Given the description of an element on the screen output the (x, y) to click on. 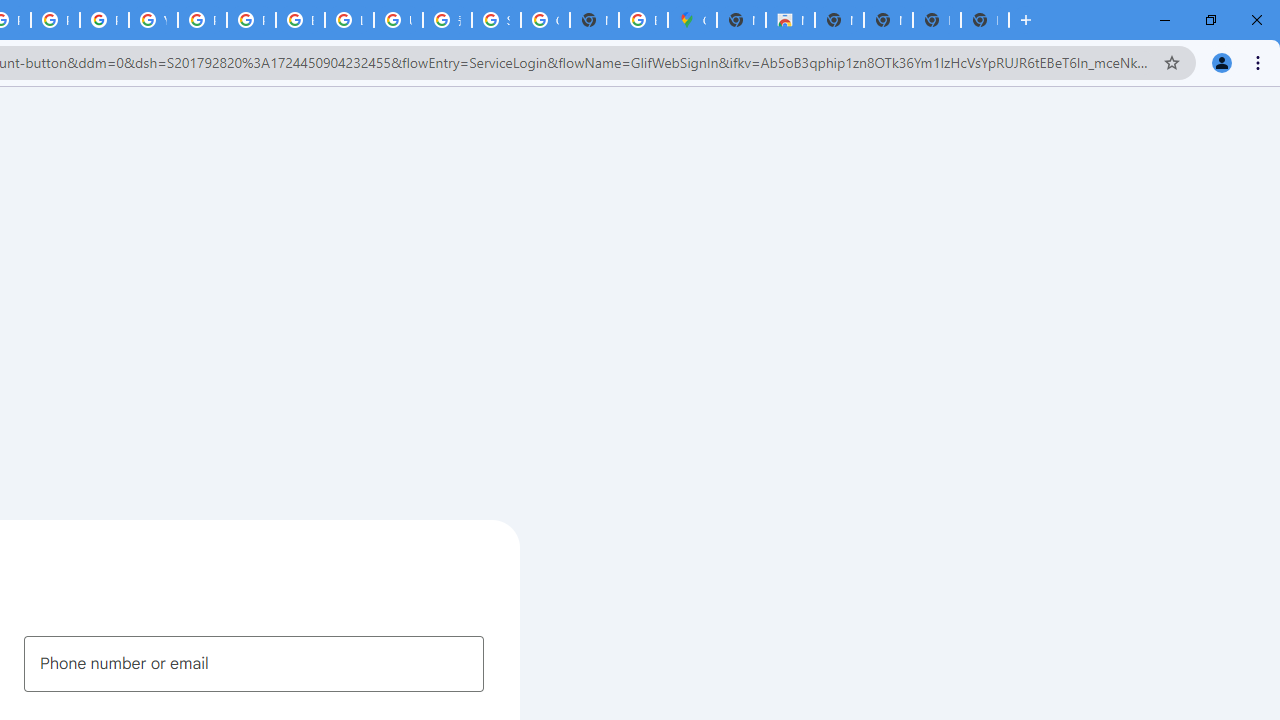
New Tab (740, 20)
YouTube (153, 20)
New Tab (984, 20)
Explore new street-level details - Google Maps Help (643, 20)
Browse Chrome as a guest - Computer - Google Chrome Help (300, 20)
Phone number or email (253, 663)
